Given the description of an element on the screen output the (x, y) to click on. 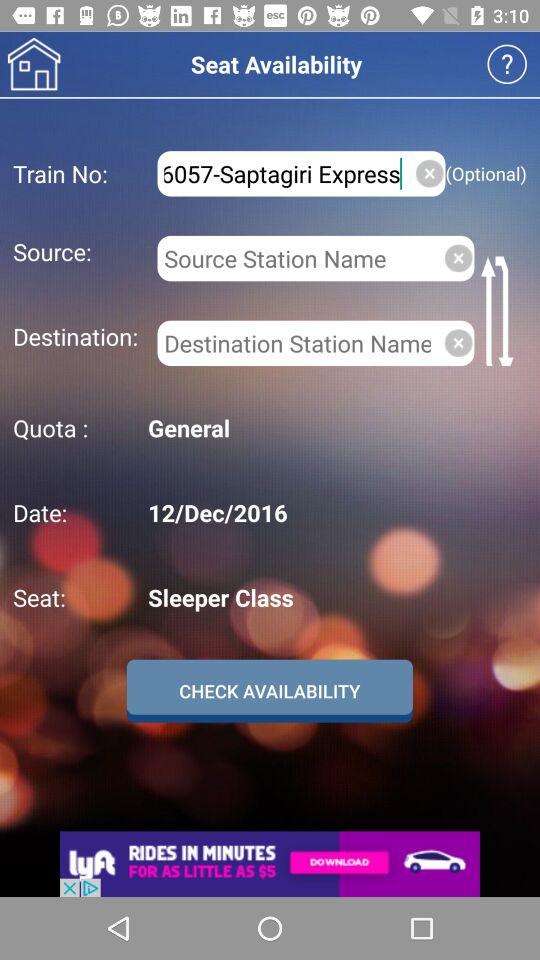
clear words (458, 258)
